Given the description of an element on the screen output the (x, y) to click on. 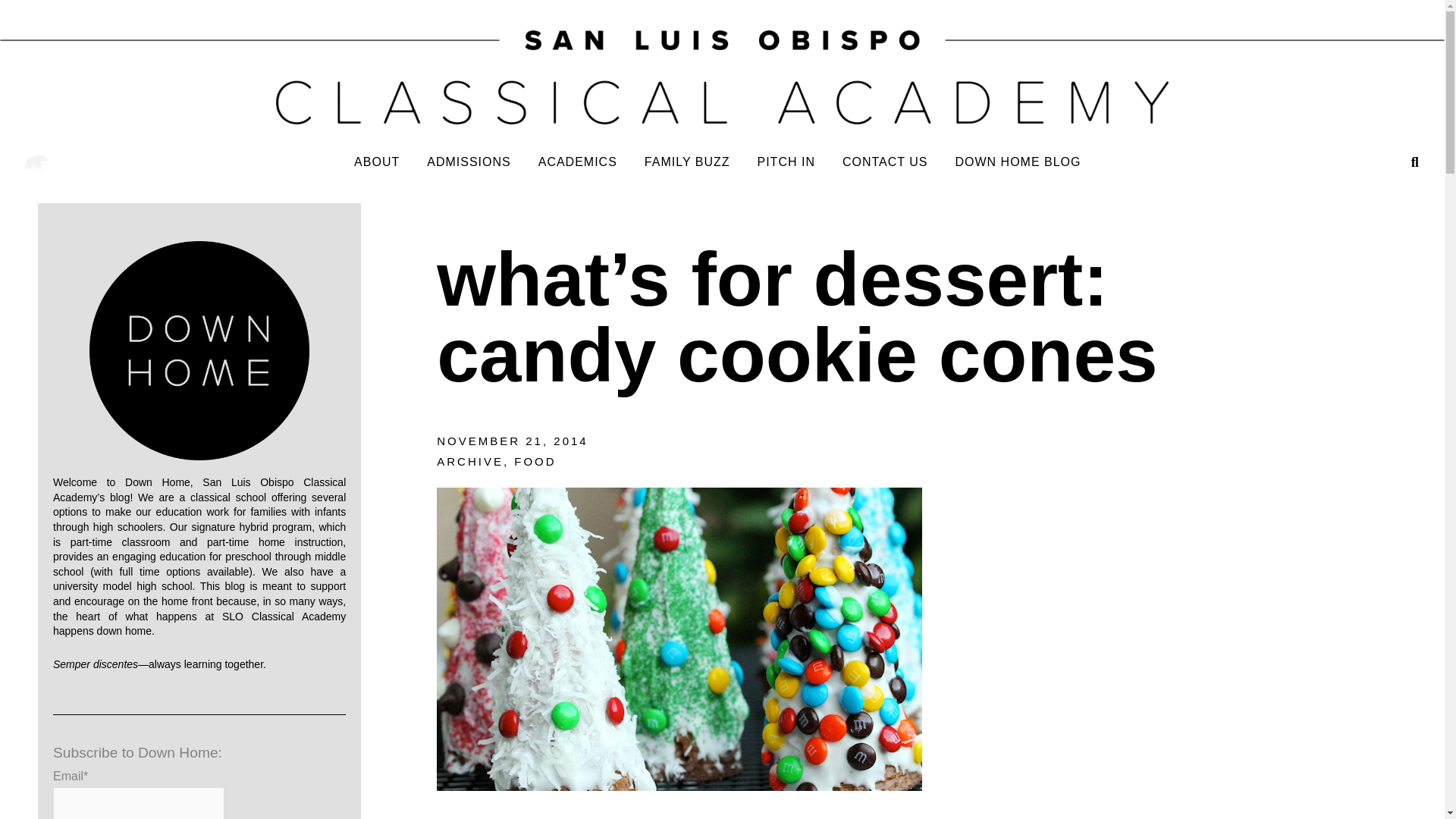
ACADEMICS (577, 161)
PITCH IN (785, 161)
ADMISSIONS (468, 161)
ABOUT (376, 161)
FAMILY BUZZ (687, 161)
